Given the description of an element on the screen output the (x, y) to click on. 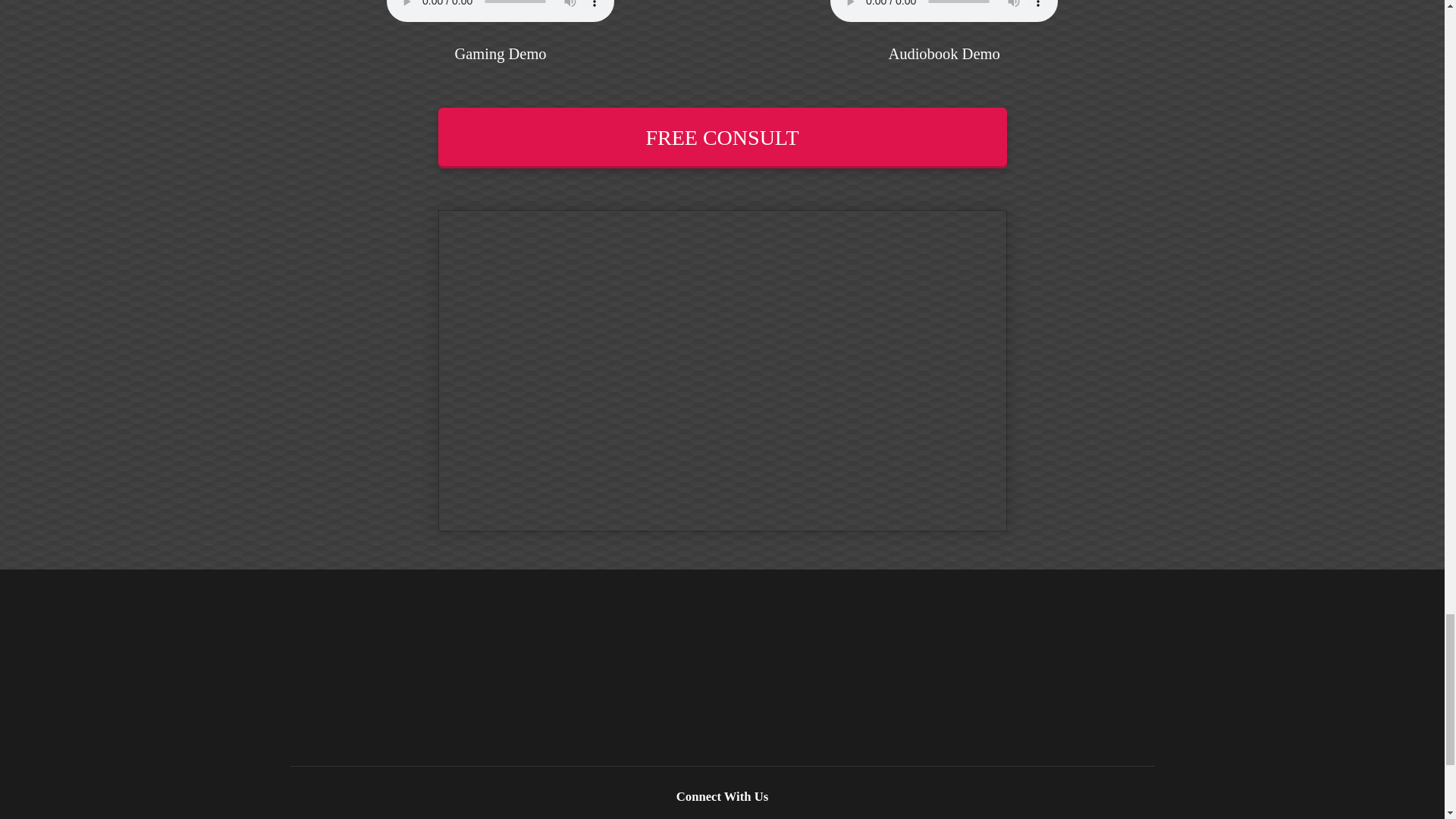
FREE CONSULT (722, 137)
